Given the description of an element on the screen output the (x, y) to click on. 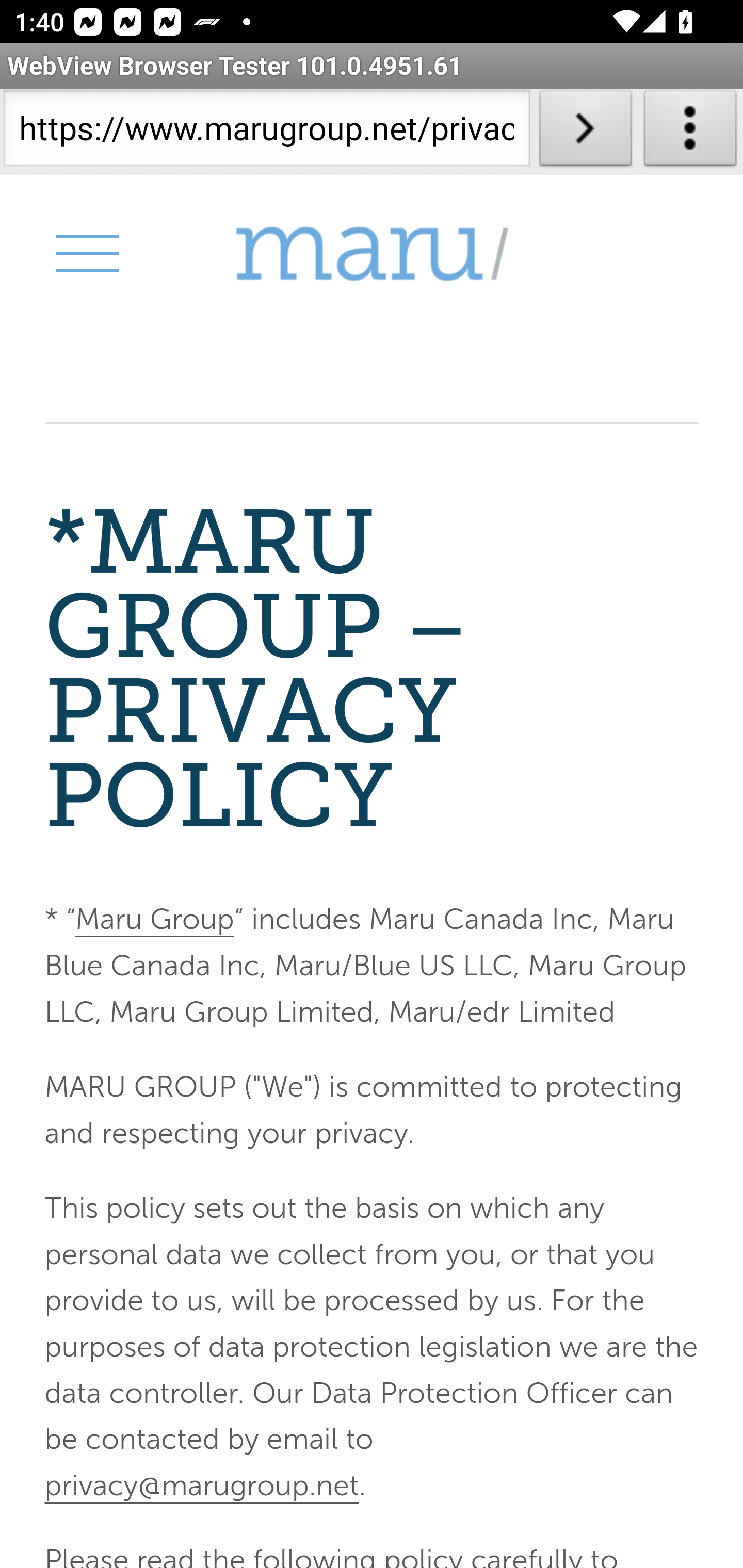
https://www.marugroup.net/privacy-policy (266, 132)
Load URL (585, 132)
About WebView (690, 132)
Open Menu (86, 252)
Maru Group (371, 253)
Maru Group (153, 920)
privacy@marugroup.net (200, 1484)
